Given the description of an element on the screen output the (x, y) to click on. 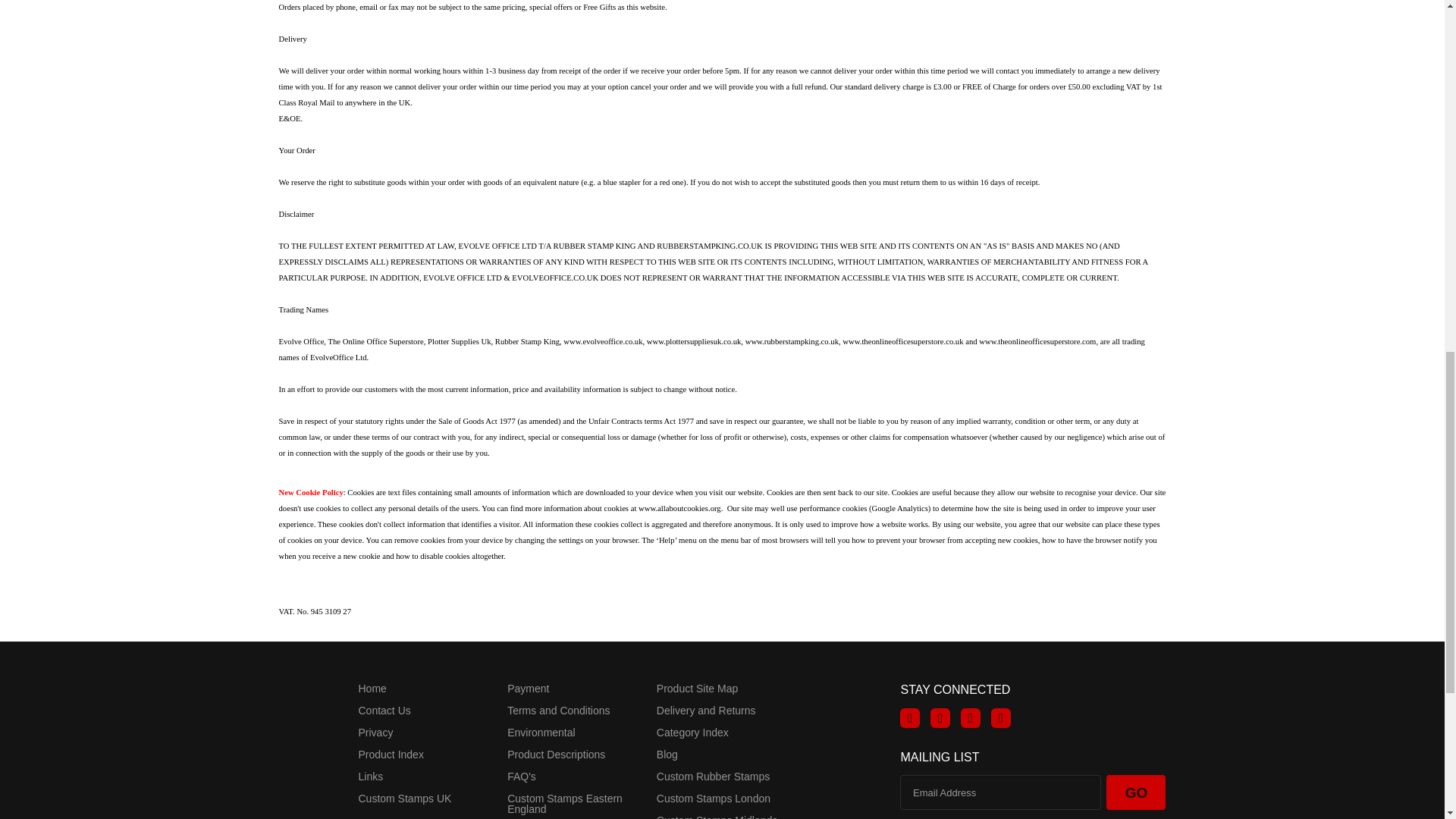
Like Us on Facebook (909, 718)
Subscribe to our Blog (1000, 718)
Subscribe to our Channel (969, 718)
Follow Us on Twitter (940, 718)
